Given the description of an element on the screen output the (x, y) to click on. 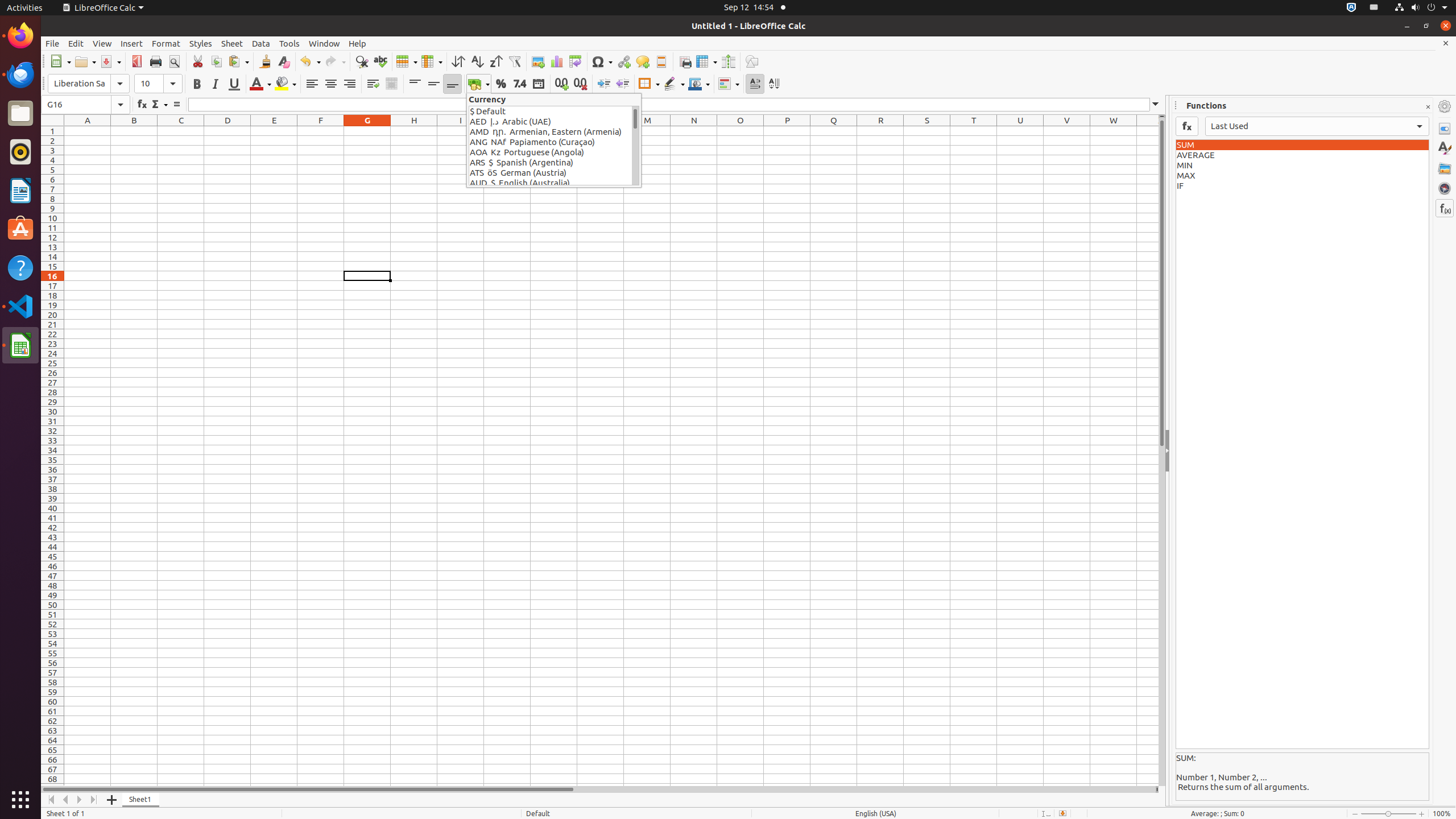
Font Size Element type: combo-box (158, 83)
Currency Element type: push-button (478, 83)
LibreOffice Writer Element type: push-button (20, 190)
P1 Element type: table-cell (786, 130)
Conditional Element type: push-button (728, 83)
